Given the description of an element on the screen output the (x, y) to click on. 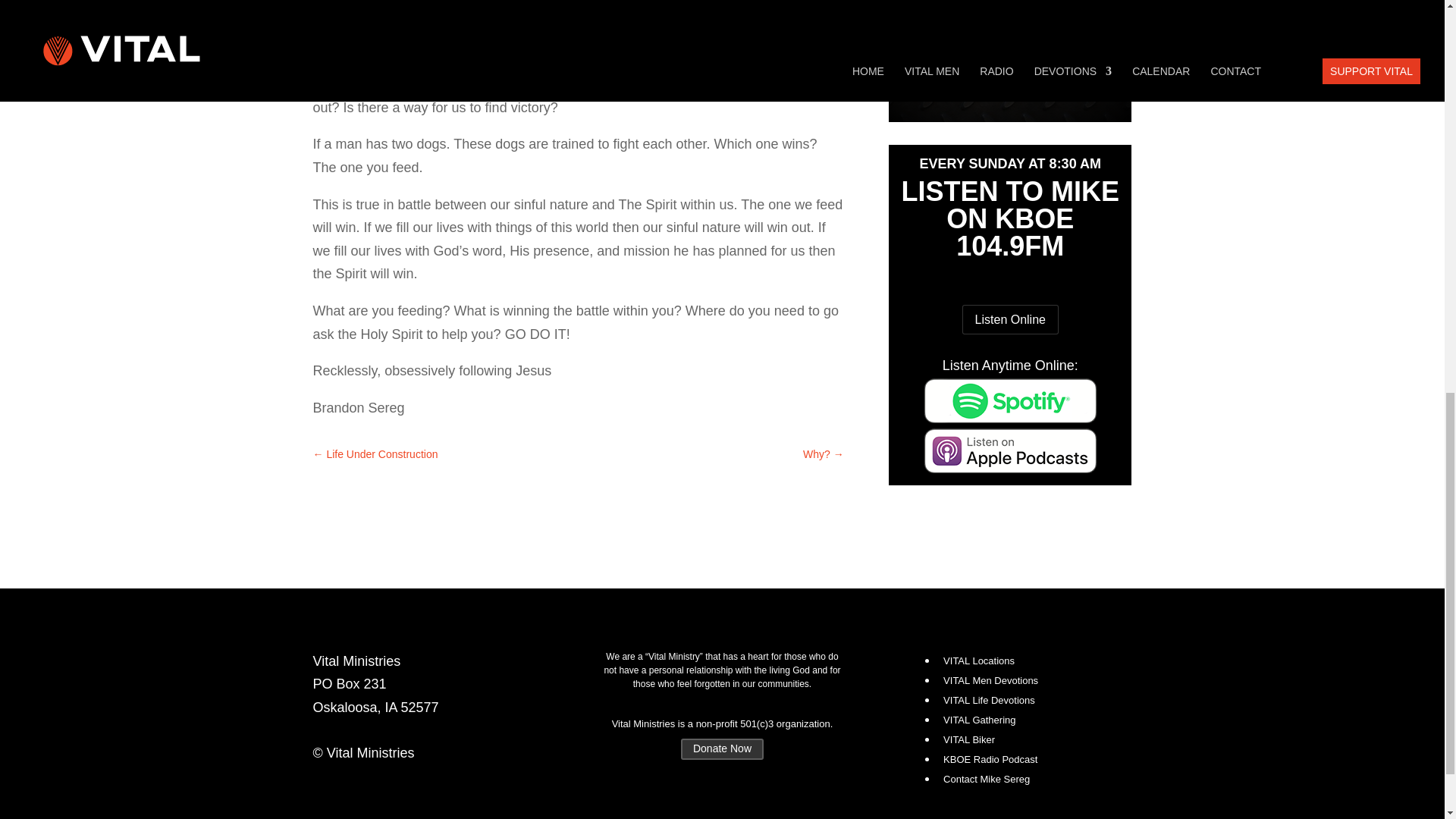
Sign Up (1075, 71)
Listen Online (1010, 319)
Sign Up (1075, 71)
